Given the description of an element on the screen output the (x, y) to click on. 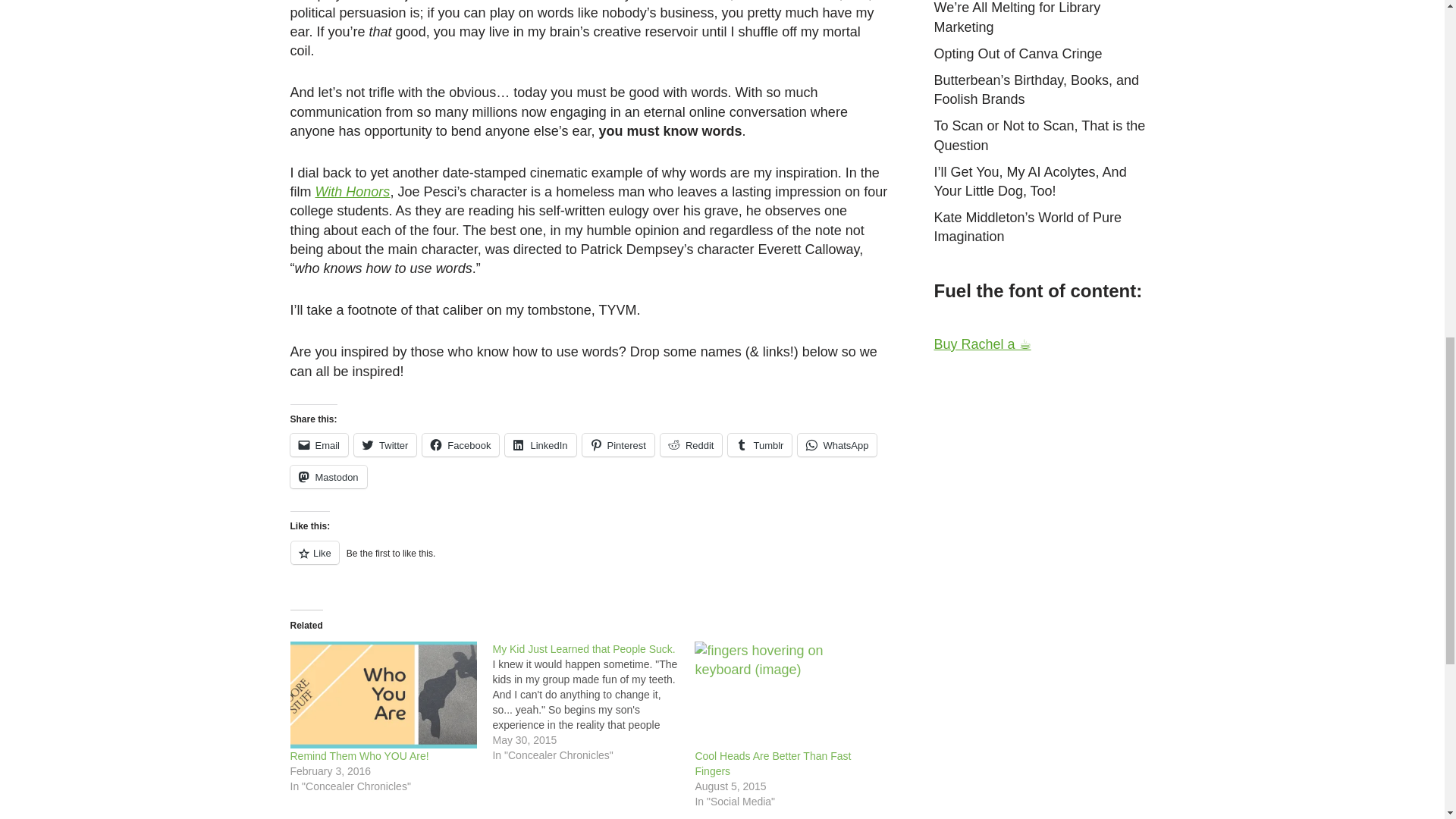
With Honors, on IMDB.com (352, 191)
My Kid Just Learned that People Suck. (583, 648)
Click to email a link to a friend (318, 445)
Click to share on Reddit (691, 445)
Click to share on Pinterest (617, 445)
Remind Them Who YOU Are! (358, 756)
Remind Them Who YOU Are! (383, 694)
My Kid Just Learned that People Suck. (593, 701)
Click to share on Facebook (460, 445)
Click to share on Twitter (384, 445)
Click to share on LinkedIn (540, 445)
Click to share on Tumblr (760, 445)
Click to share on Mastodon (327, 477)
Like or Reblog (588, 561)
Click to share on WhatsApp (836, 445)
